Given the description of an element on the screen output the (x, y) to click on. 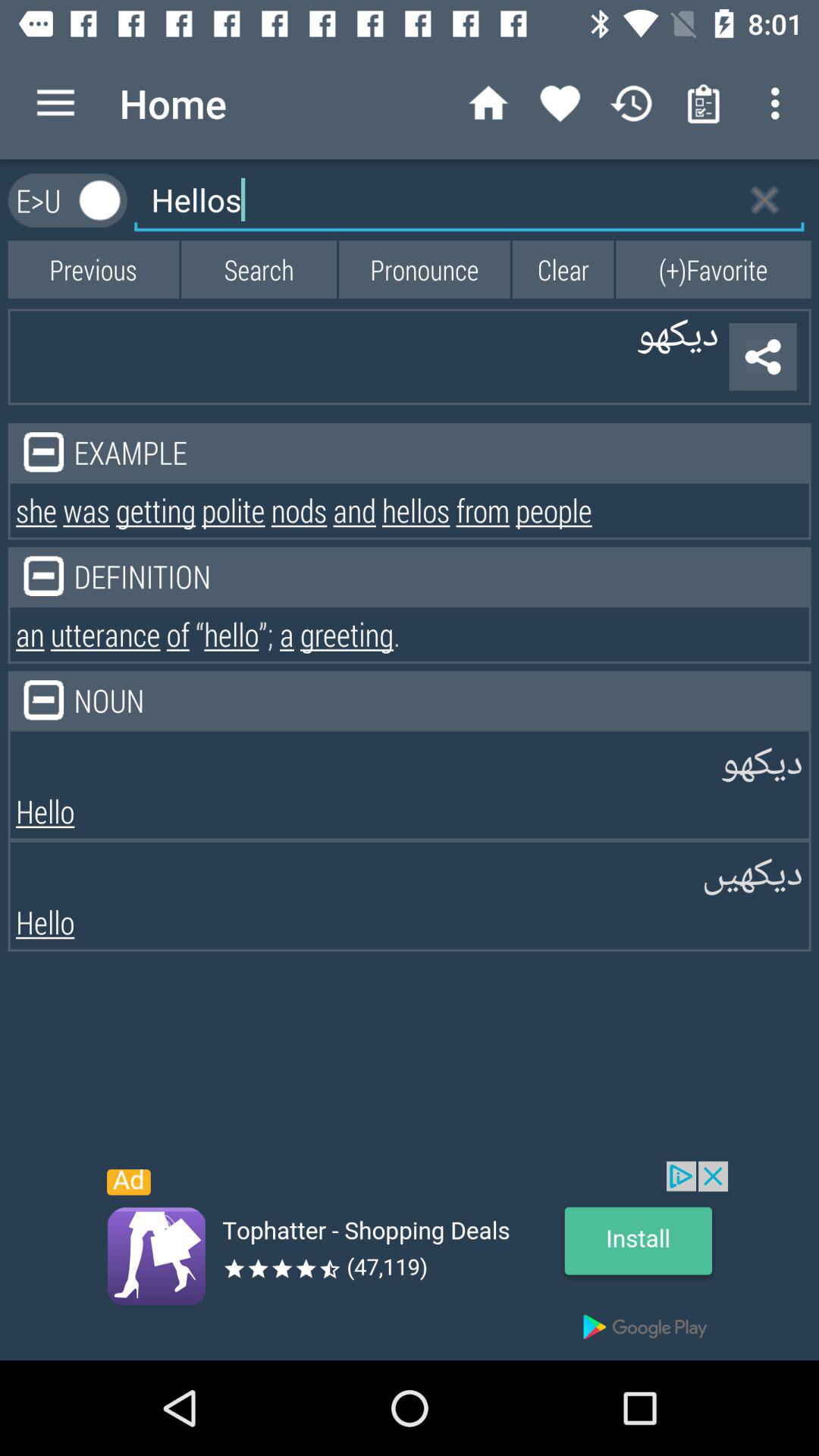
click advertisement (409, 1260)
